Given the description of an element on the screen output the (x, y) to click on. 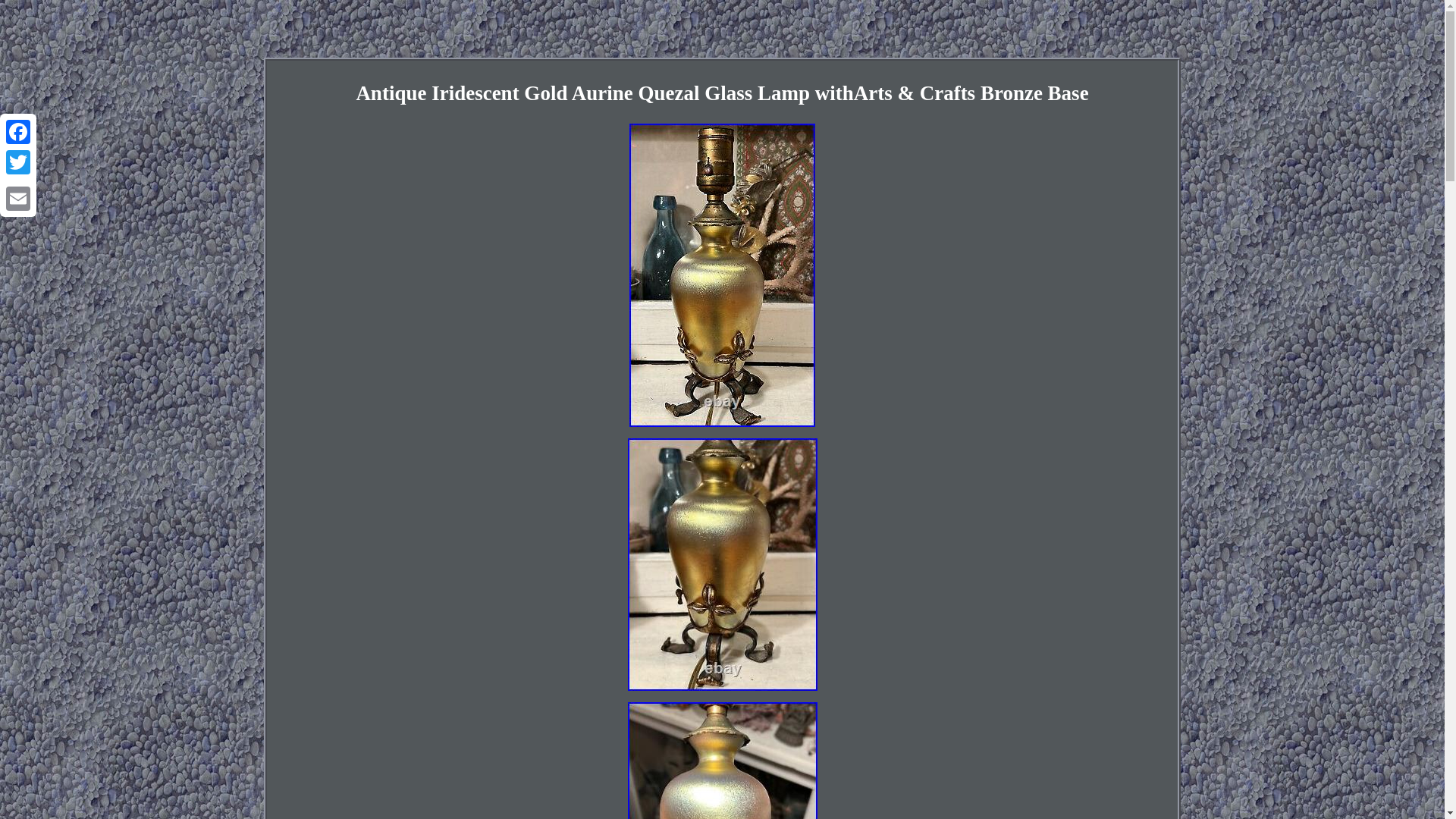
Facebook (17, 132)
Twitter (17, 162)
Email (17, 198)
